Given the description of an element on the screen output the (x, y) to click on. 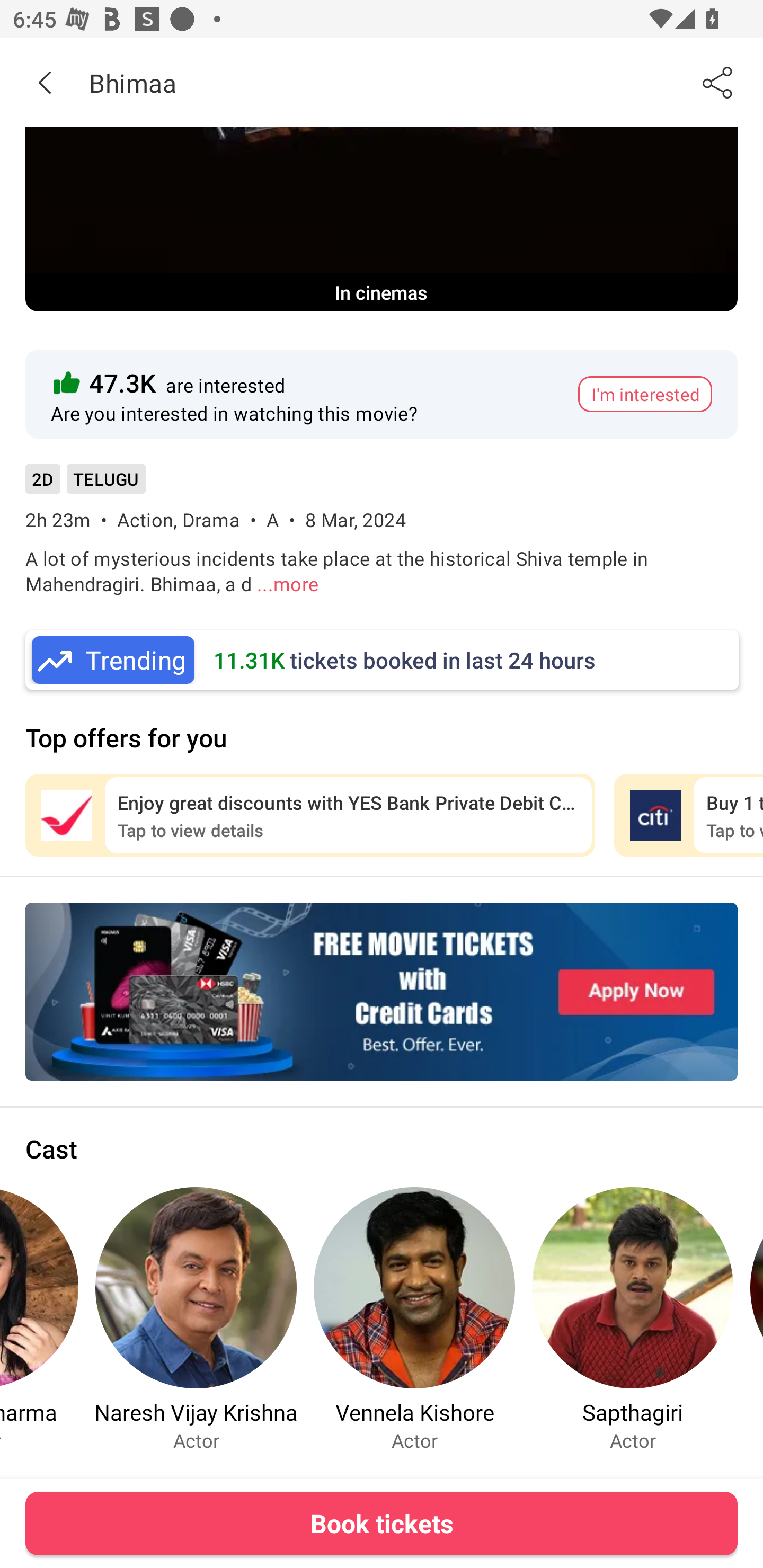
Back (44, 82)
Share (718, 82)
Movie Banner In cinemas (381, 219)
I'm interested (644, 394)
2D TELUGU (85, 485)
Naresh Vijay Krishna Actor (196, 1319)
Vennela Kishore Actor (414, 1319)
Sapthagiri Actor (632, 1319)
Book tickets (381, 1523)
